Given the description of an element on the screen output the (x, y) to click on. 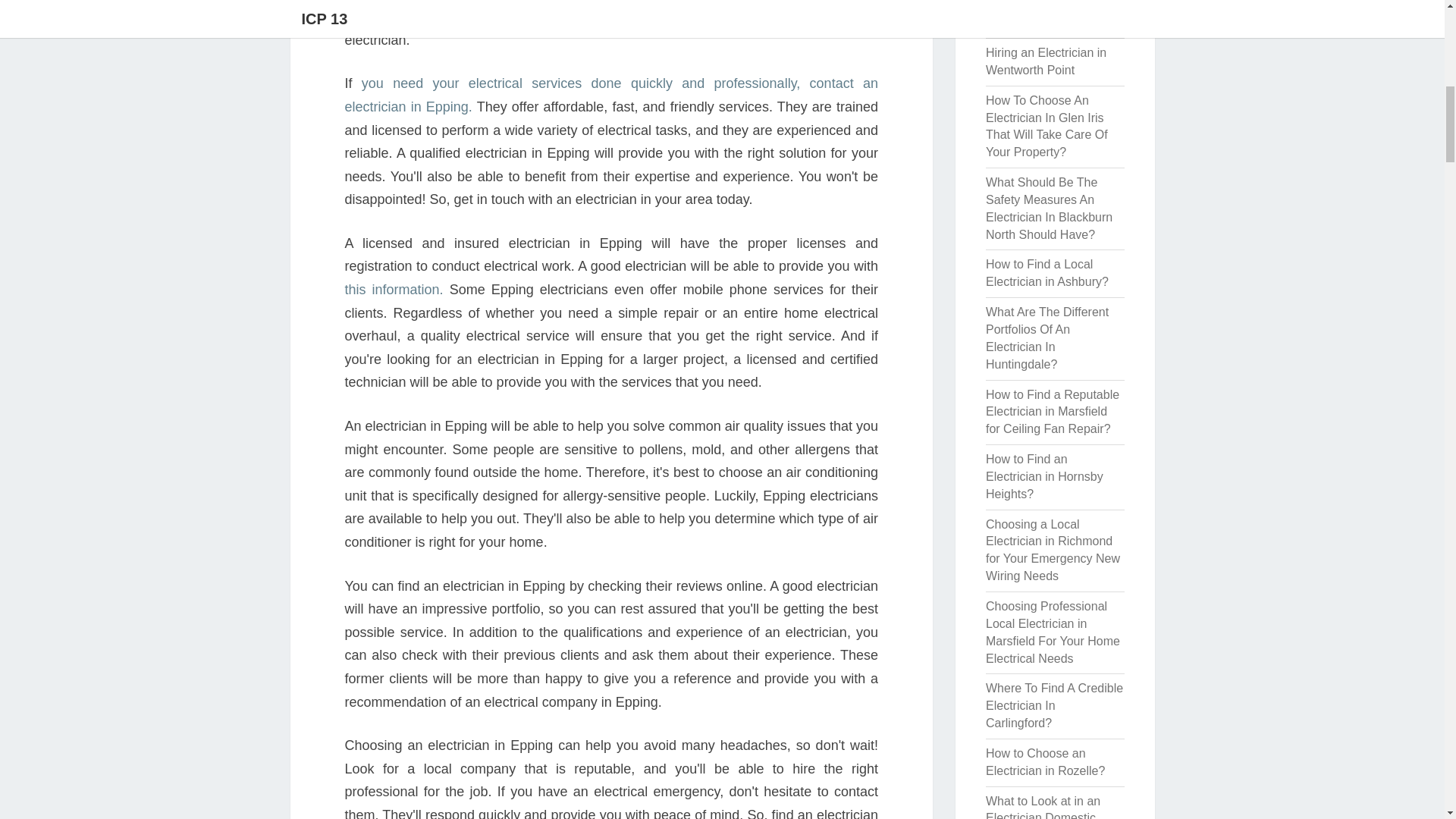
this information. (392, 289)
How to Find an Electrician in Hornsby Heights? (1044, 476)
Hiring an Electrician in Wentworth Point (1045, 60)
How to Choose an Electrician in Rozelle? (1045, 761)
